Given the description of an element on the screen output the (x, y) to click on. 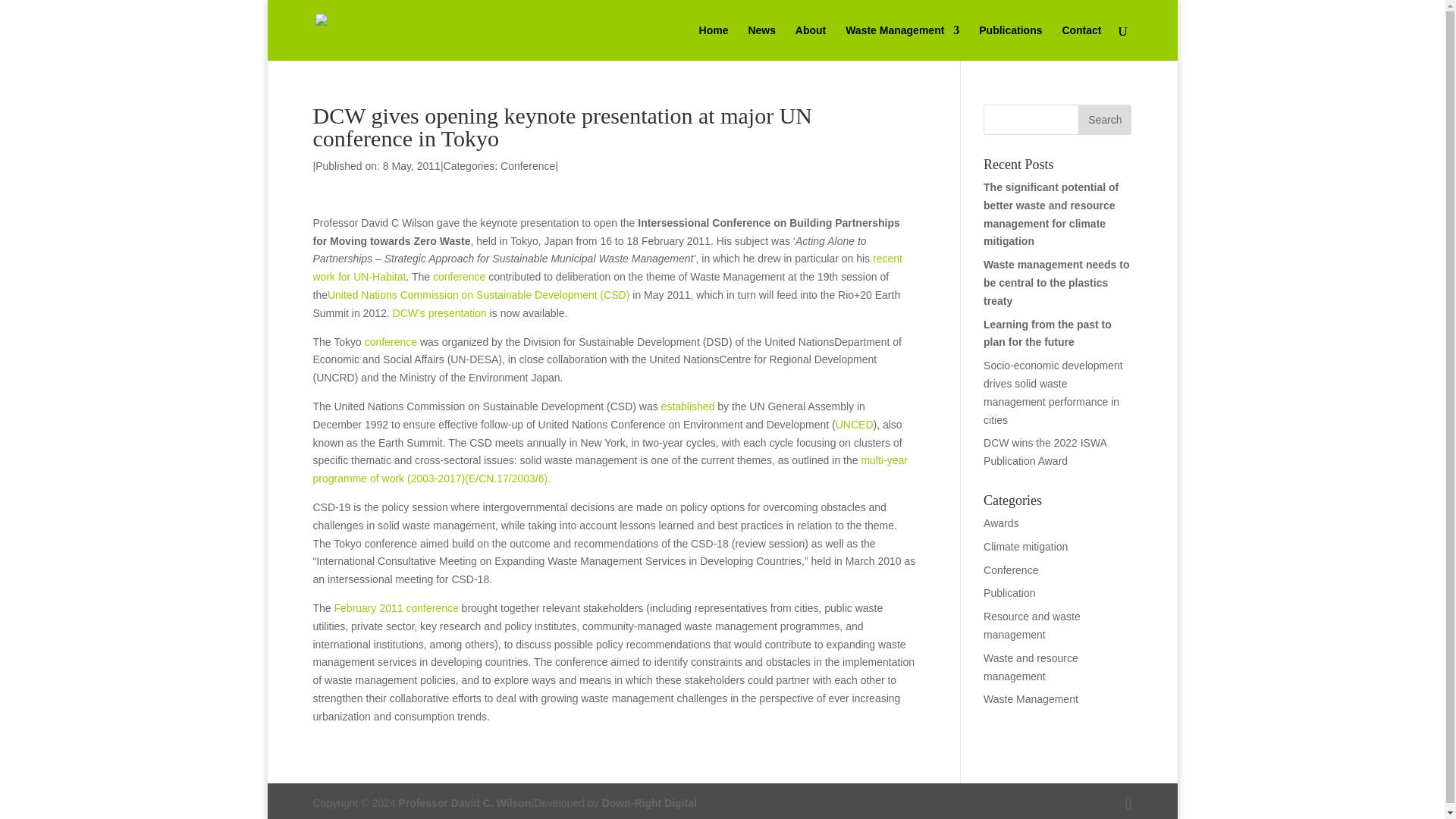
UNCED (854, 424)
Down-Right Digital (649, 802)
Resource and waste management (1032, 625)
DCW Habitat work (607, 267)
Waste and resource management (1031, 666)
CSD concept note (390, 341)
Conference (1011, 570)
conference (458, 276)
recent work for UN-Habitat (607, 267)
Publication (1009, 592)
